Given the description of an element on the screen output the (x, y) to click on. 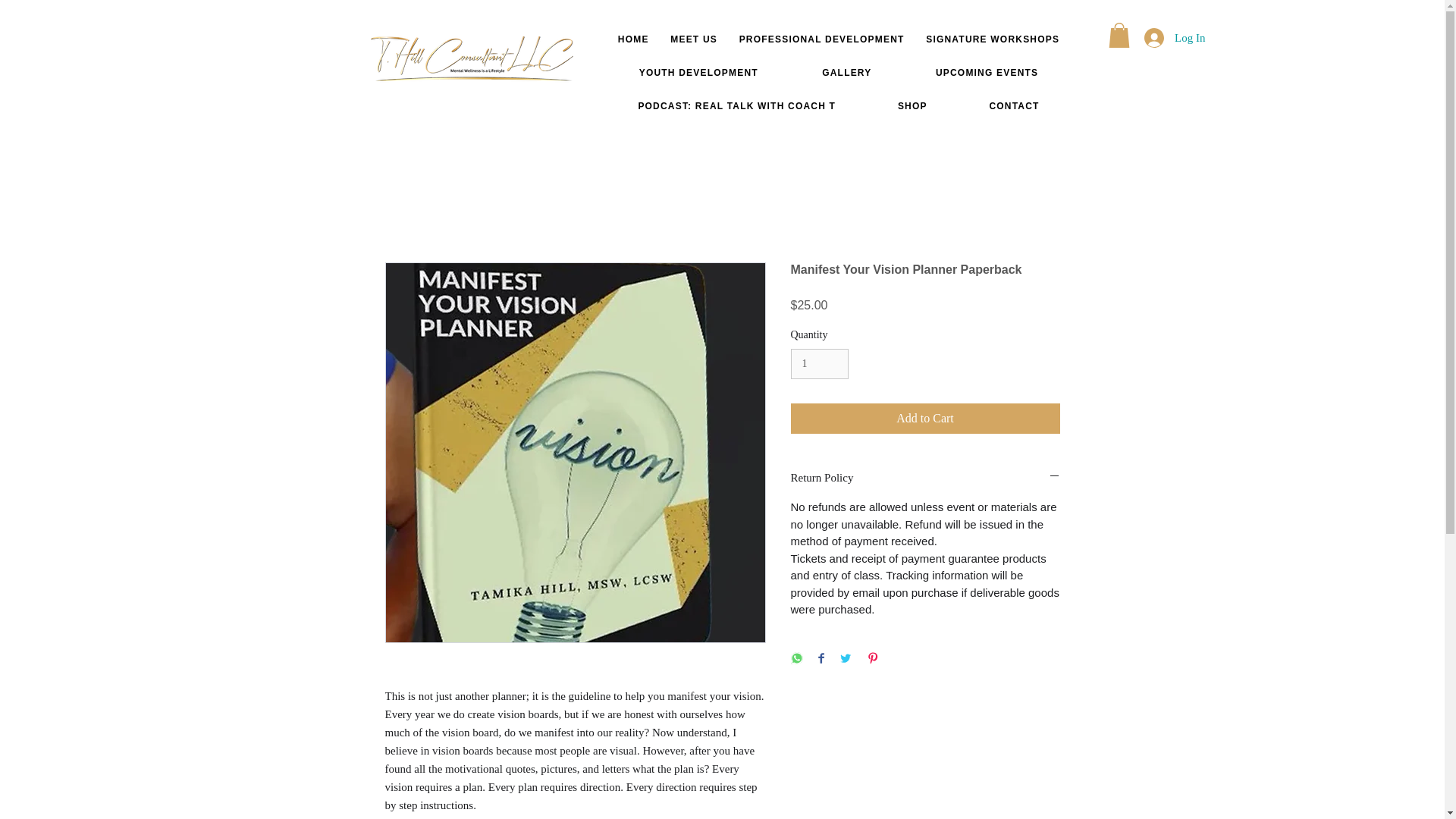
SIGNATURE WORKSHOPS (992, 40)
CONTACT (1013, 106)
Log In (1174, 37)
HOME (633, 40)
GALLERY (847, 72)
PODCAST: REAL TALK WITH COACH T (736, 106)
1 (818, 364)
SHOP (912, 106)
YOUTH DEVELOPMENT (698, 72)
Return Policy (924, 478)
MEET US (693, 40)
UPCOMING EVENTS (987, 72)
PROFESSIONAL DEVELOPMENT (821, 40)
Add to Cart (924, 418)
